Given the description of an element on the screen output the (x, y) to click on. 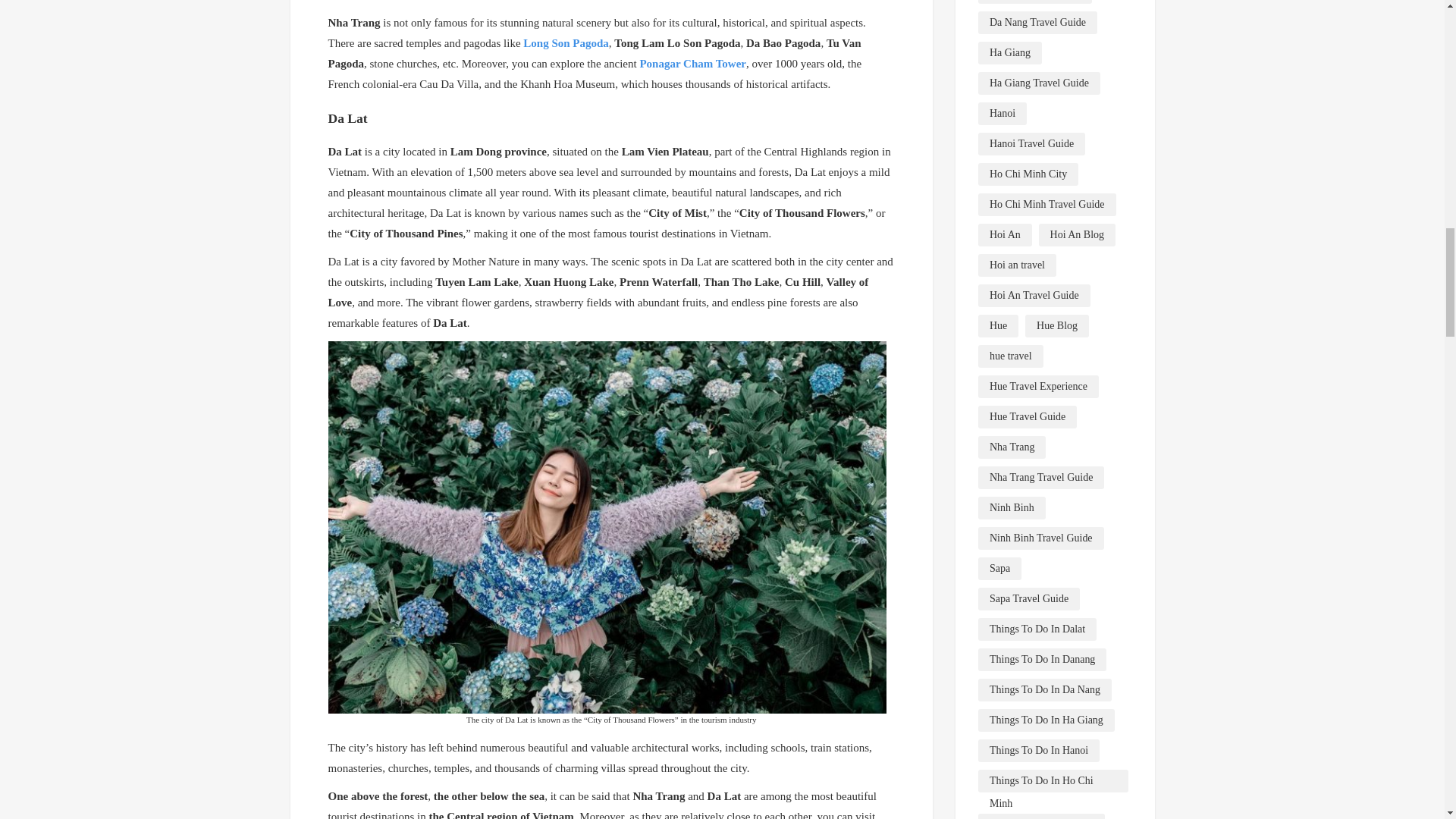
35 topics (1037, 22)
26 topics (1039, 83)
27 topics (1010, 52)
78 topics (1035, 2)
